Given the description of an element on the screen output the (x, y) to click on. 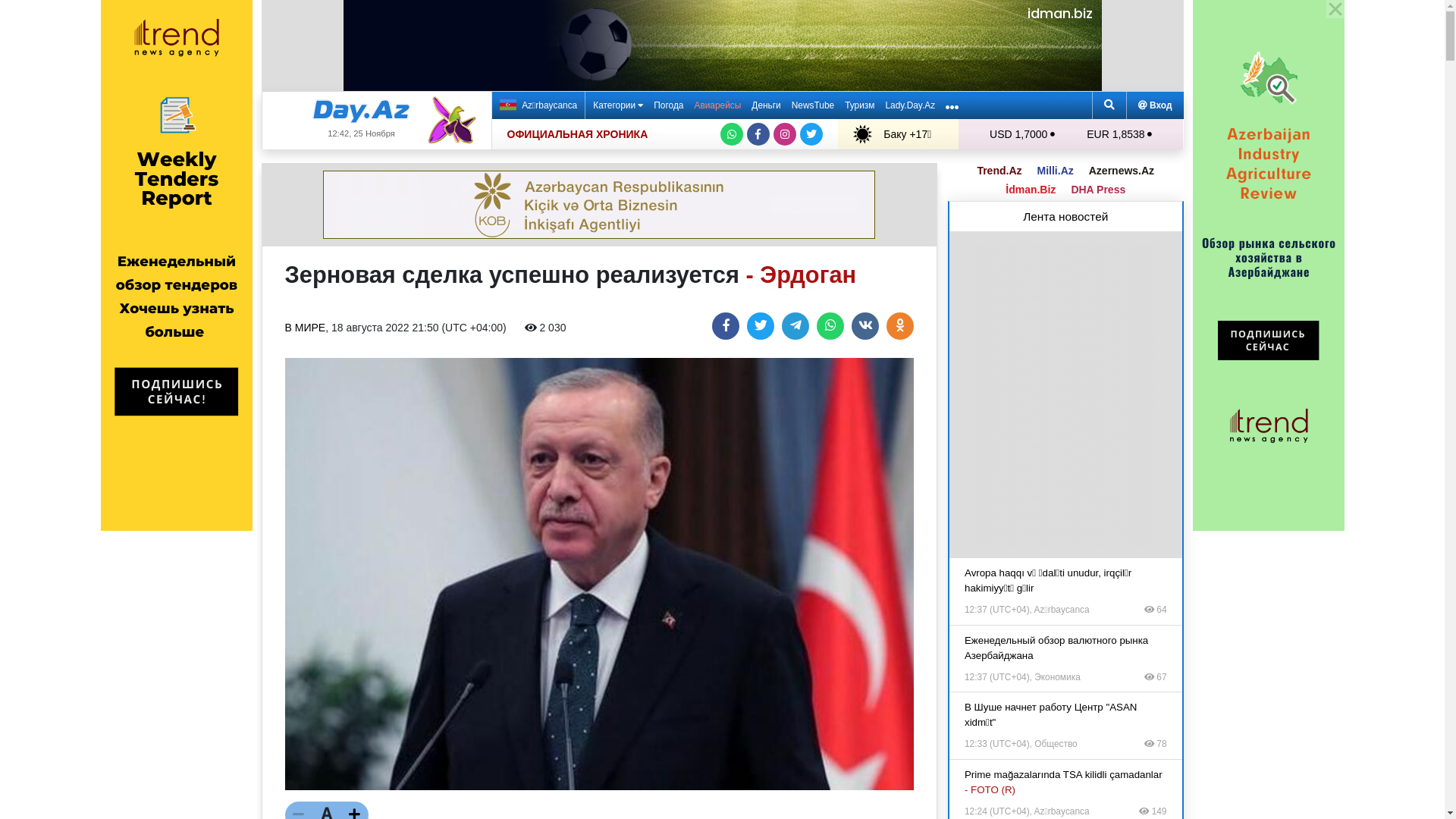
Trend.Az Element type: text (998, 170)
DHA Press Element type: text (1097, 189)
NewsTube Element type: text (812, 105)
3rd party ad content Element type: hover (721, 45)
Lady.Day.Az Element type: text (909, 105)
Milli.Az Element type: text (1055, 170)
Azernews.Az Element type: text (1121, 170)
3rd party ad content Element type: hover (1065, 394)
USD 1,7000
EUR 1,8538 Element type: text (1070, 134)
3rd party ad content Element type: hover (599, 204)
